Given the description of an element on the screen output the (x, y) to click on. 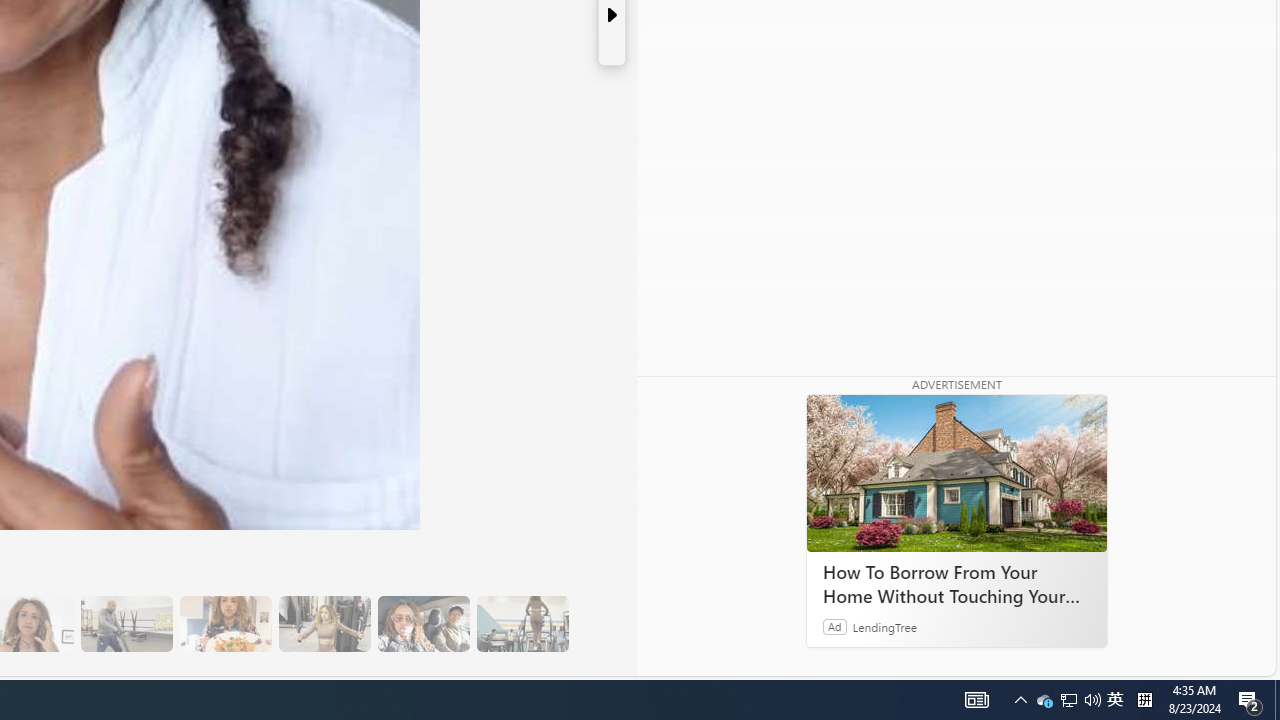
14 They Have Salmon and Veggies for Dinner (225, 624)
15 They Also Indulge in a Low-Calorie Sweet Treat (324, 624)
13 Her Husband Does Group Cardio Classs (125, 624)
13 Her Husband Does Group Cardio Classs (125, 624)
LendingTree (884, 626)
How To Borrow From Your Home Without Touching Your Mortgage (956, 473)
16 The Couple's Program Helps with Accountability (423, 624)
How To Borrow From Your Home Without Touching Your Mortgage (956, 583)
16 The Couple's Program Helps with Accountability (423, 624)
